Given the description of an element on the screen output the (x, y) to click on. 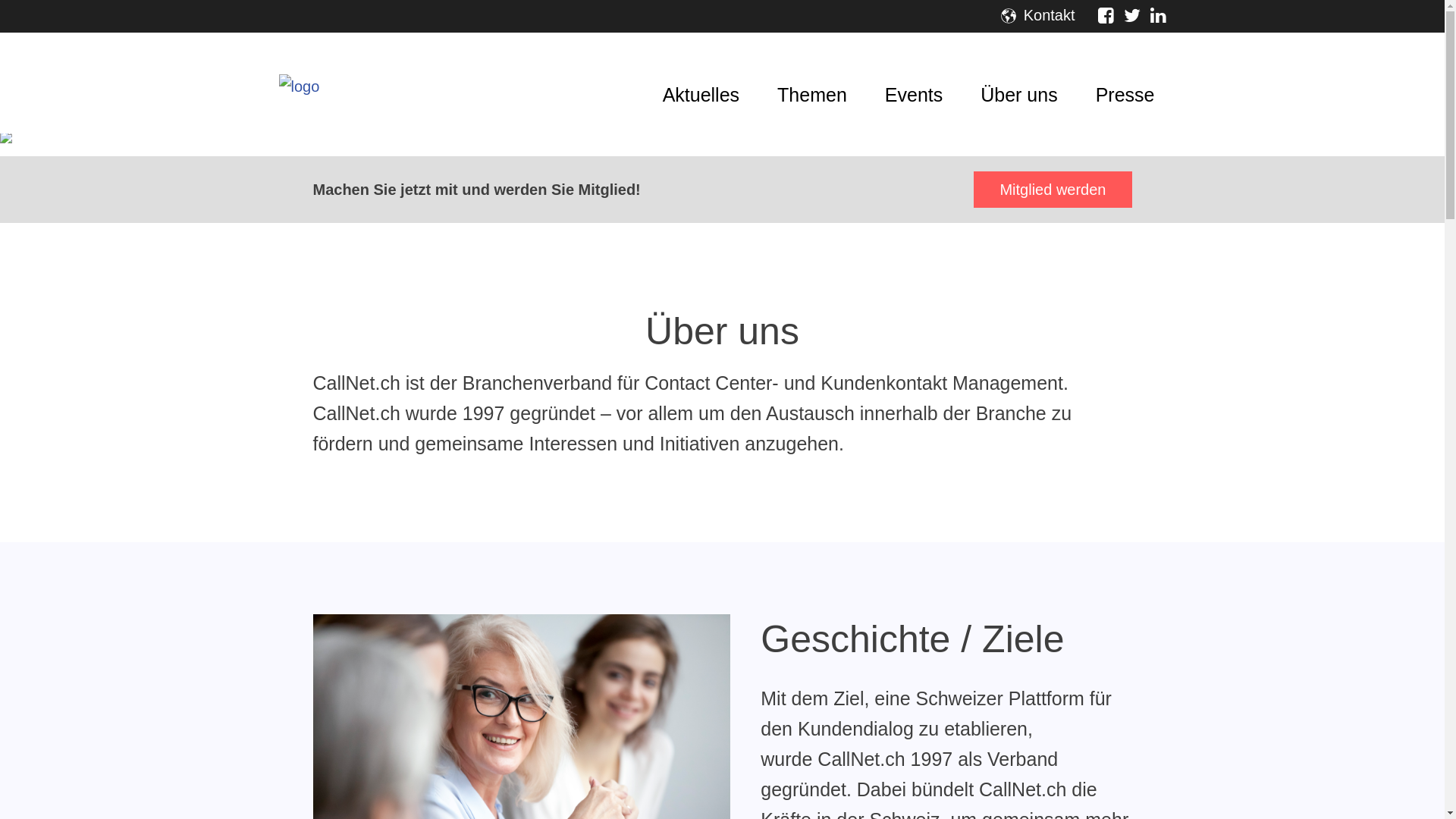
Presse Element type: text (1125, 82)
Aktuelles Element type: text (700, 82)
logo Element type: hover (299, 86)
Events Element type: text (913, 82)
Themen Element type: text (811, 82)
Mitglied werden Element type: text (1052, 189)
Kontakt Element type: text (1049, 14)
